Given the description of an element on the screen output the (x, y) to click on. 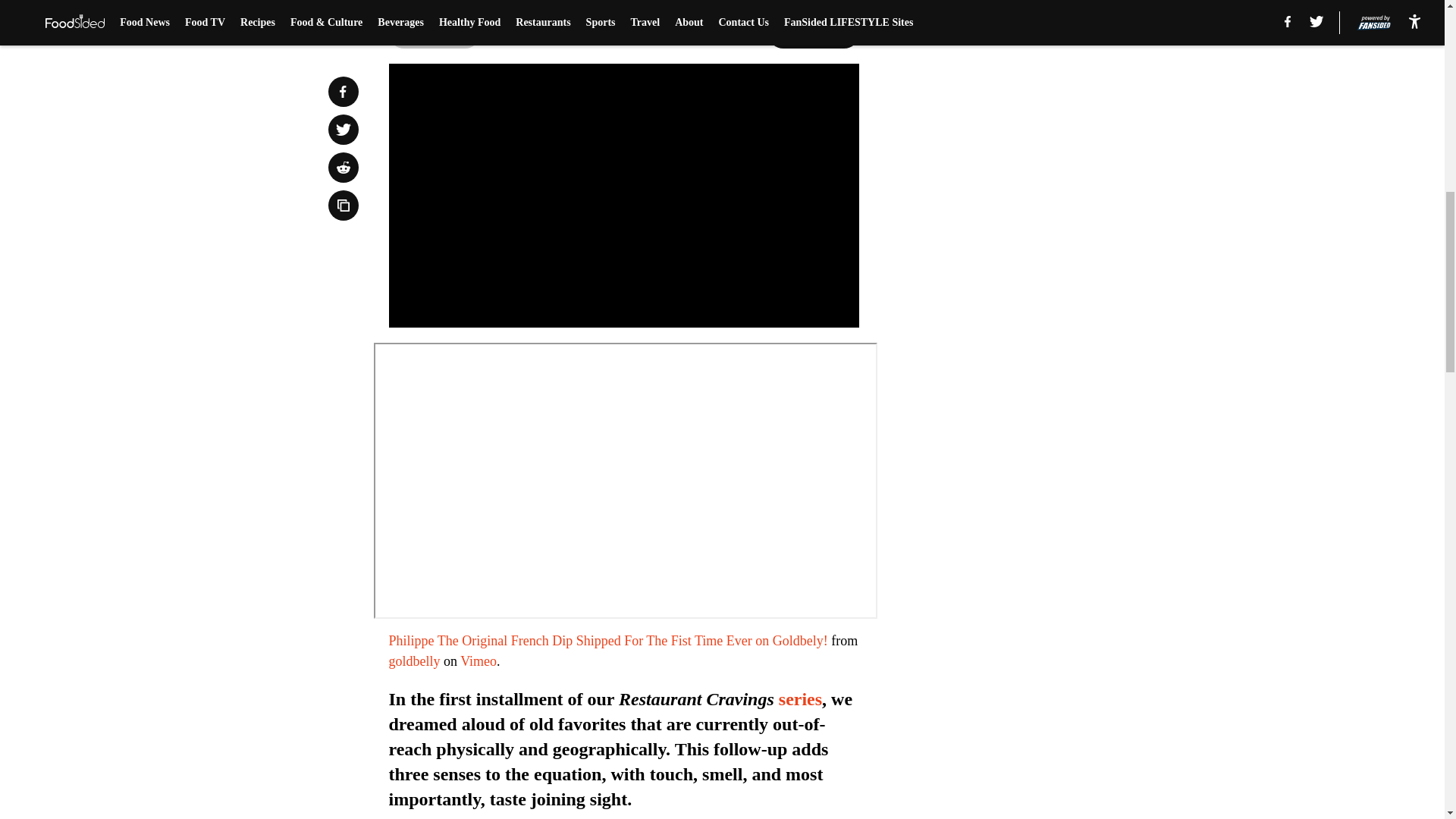
Next (813, 33)
goldbelly (413, 661)
Prev (433, 33)
series (800, 699)
Vimeo (478, 661)
